Given the description of an element on the screen output the (x, y) to click on. 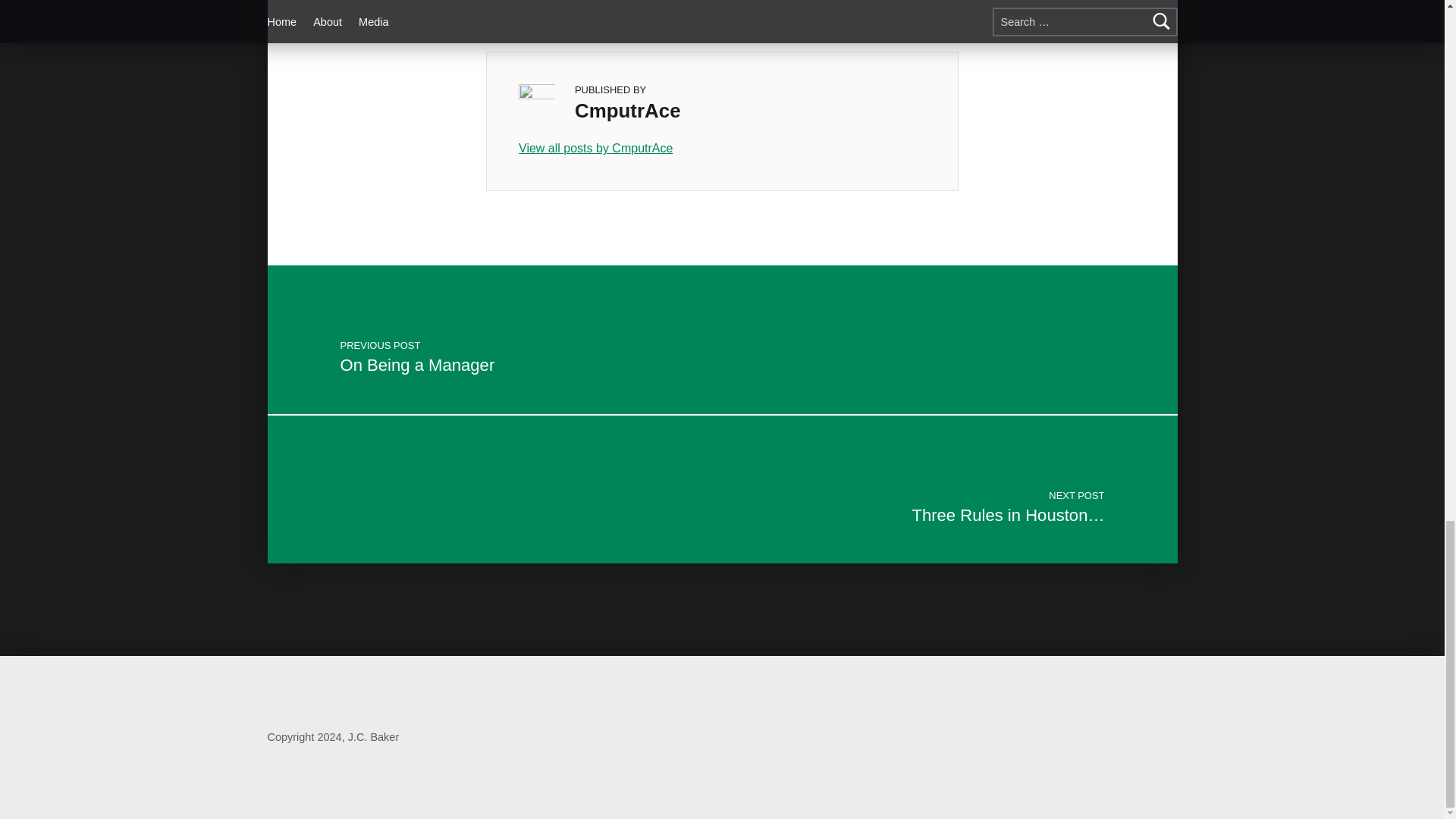
View all posts by CmputrAce (722, 148)
